Given the description of an element on the screen output the (x, y) to click on. 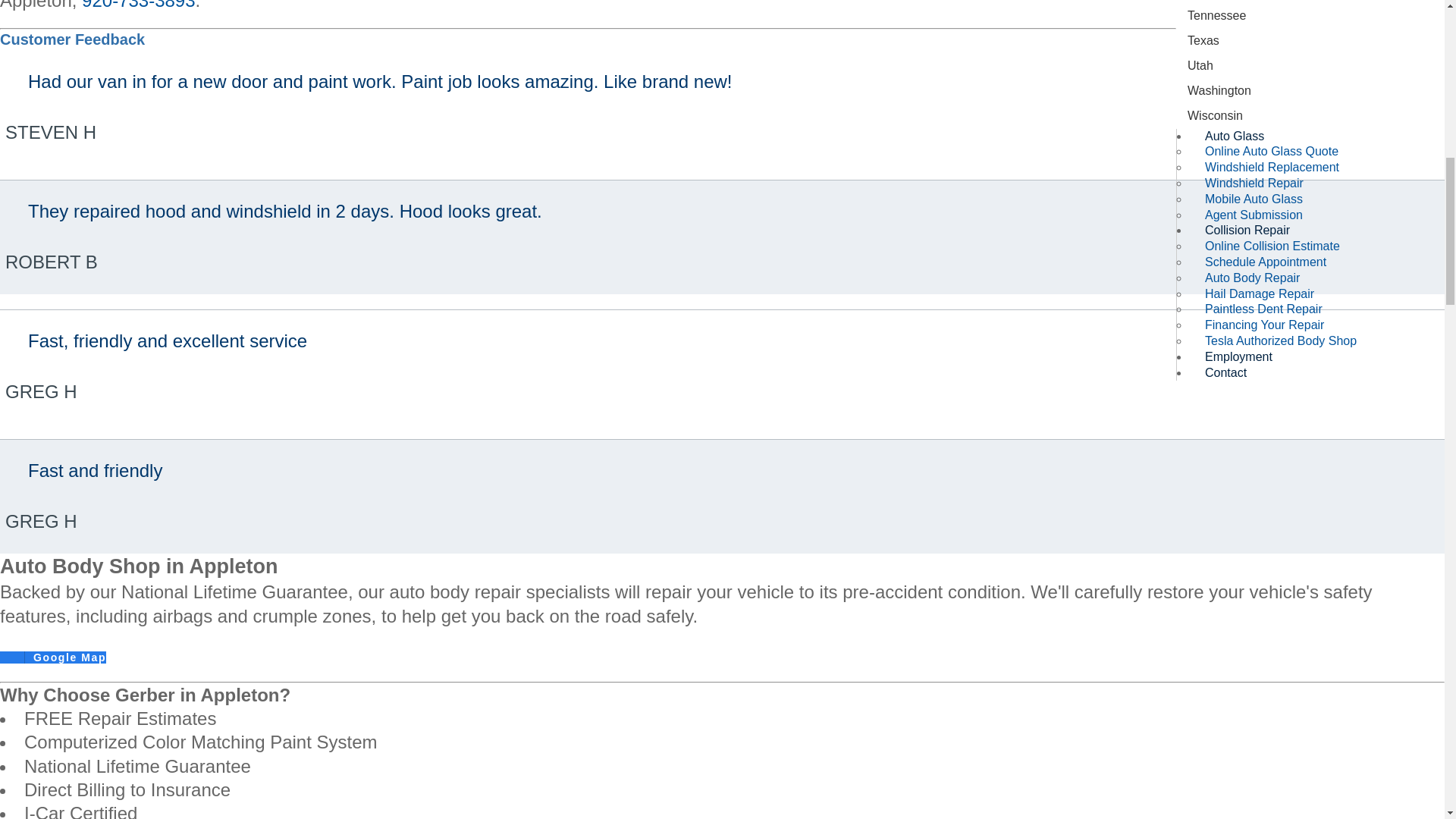
920-733-3893 (138, 5)
